Given the description of an element on the screen output the (x, y) to click on. 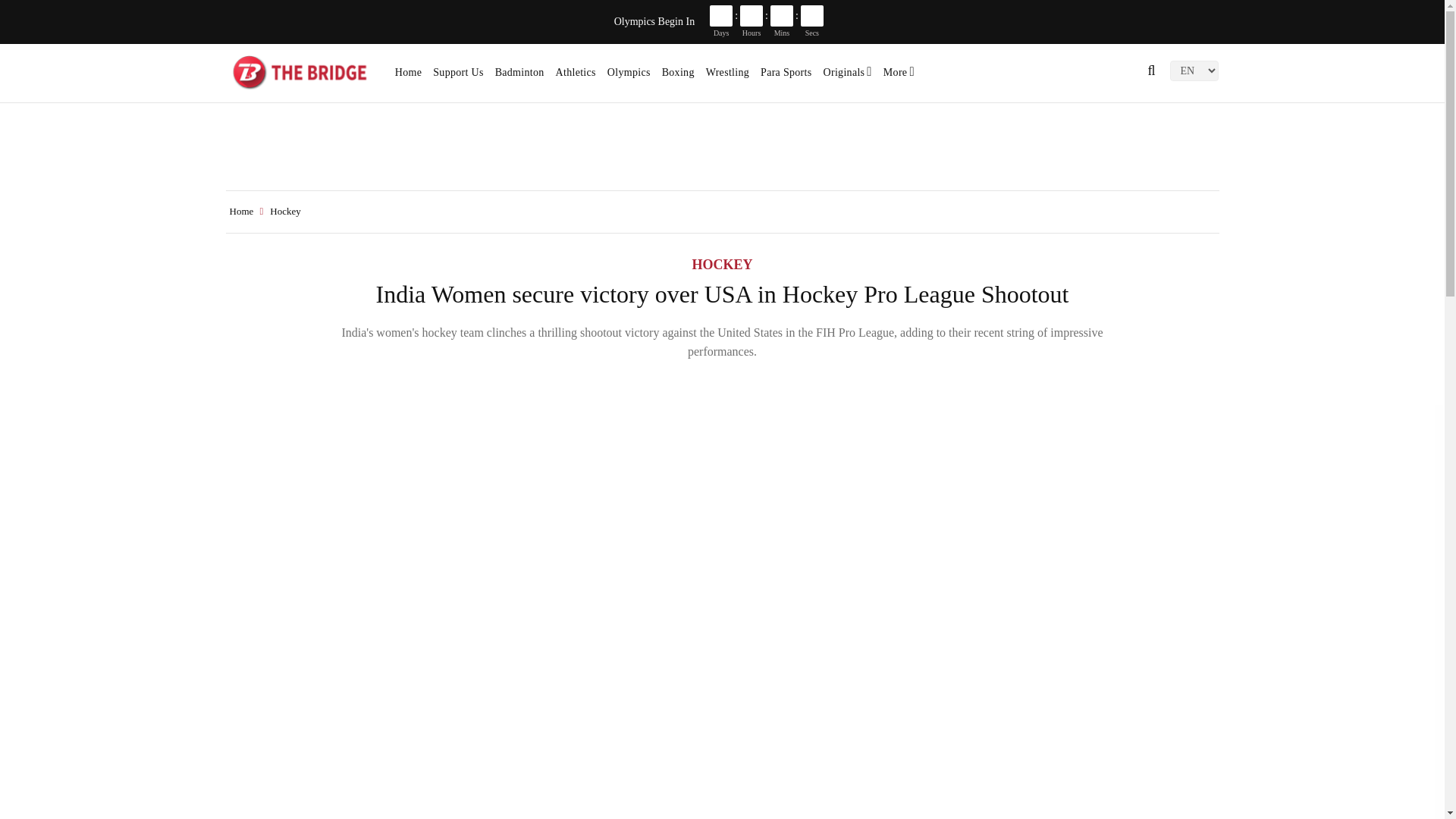
Para Sports (785, 77)
Originals (848, 77)
Wrestling (727, 77)
Support Us (457, 77)
Badminton (519, 77)
Olympics (628, 77)
